Given the description of an element on the screen output the (x, y) to click on. 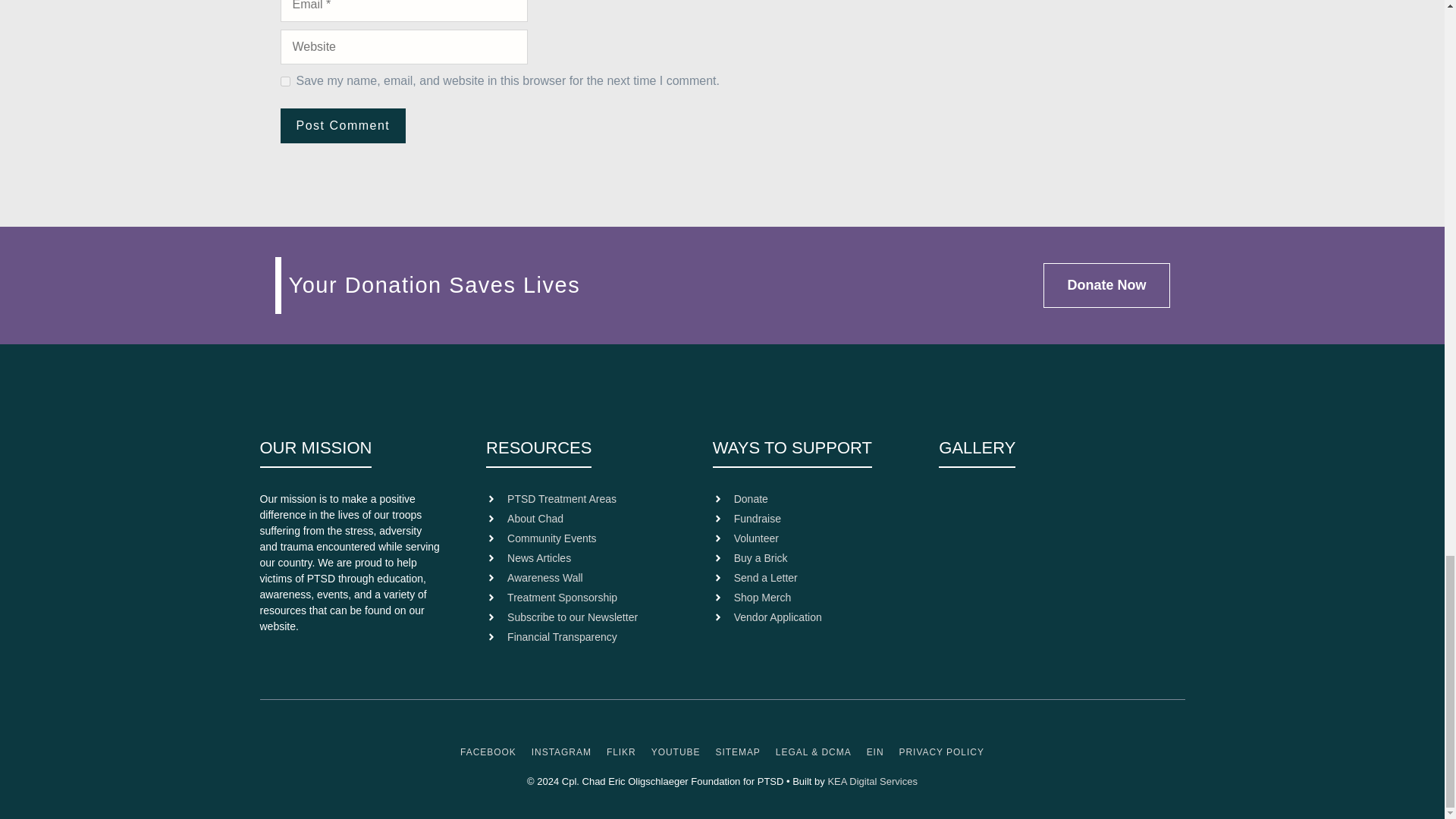
yes (285, 81)
Post Comment (343, 125)
